Given the description of an element on the screen output the (x, y) to click on. 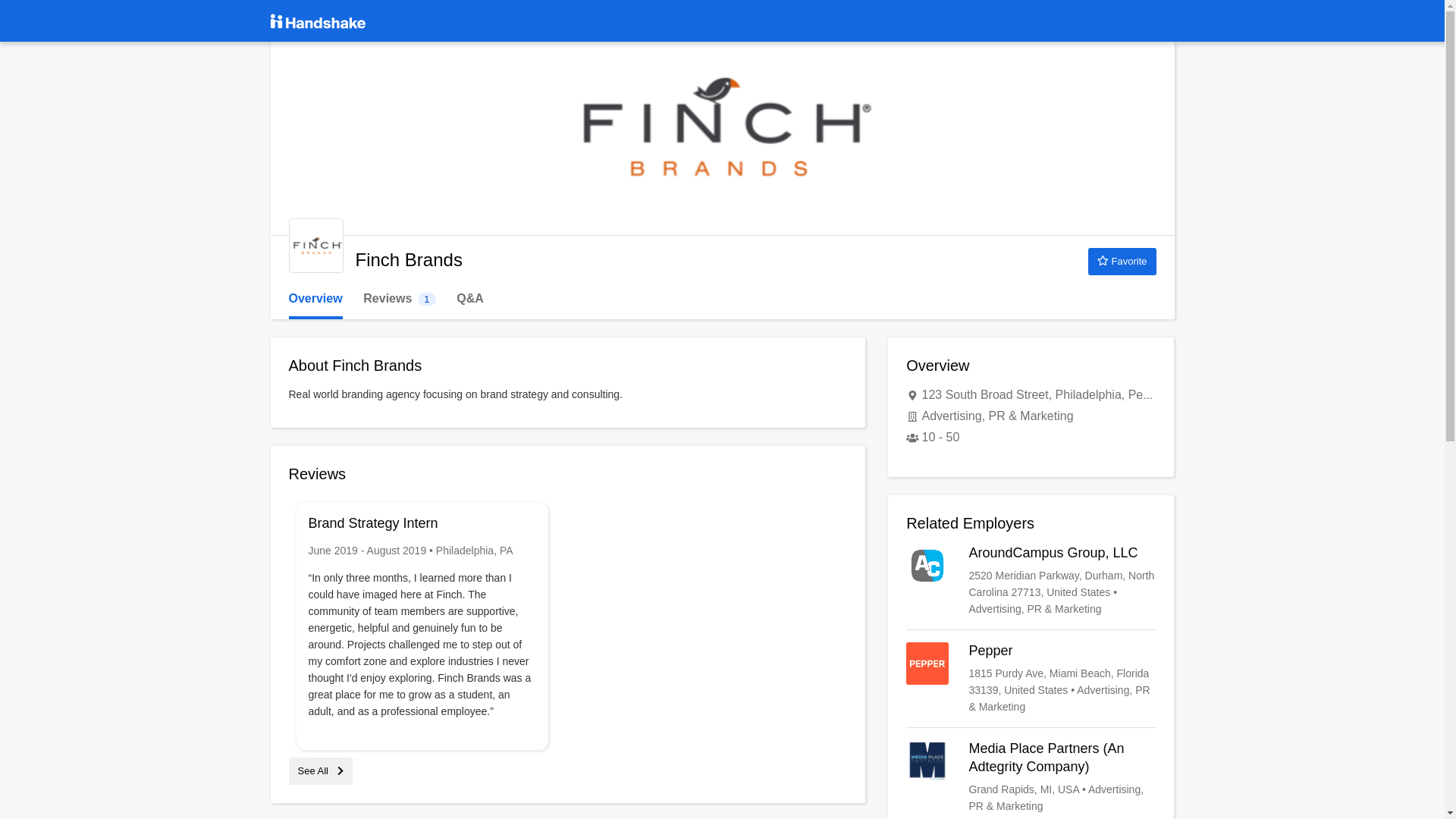
Finch Brands (315, 245)
Overview (315, 298)
See All (320, 770)
Favorite (398, 298)
Pepper (1121, 261)
AroundCampus Group, LLC (1030, 678)
